Given the description of an element on the screen output the (x, y) to click on. 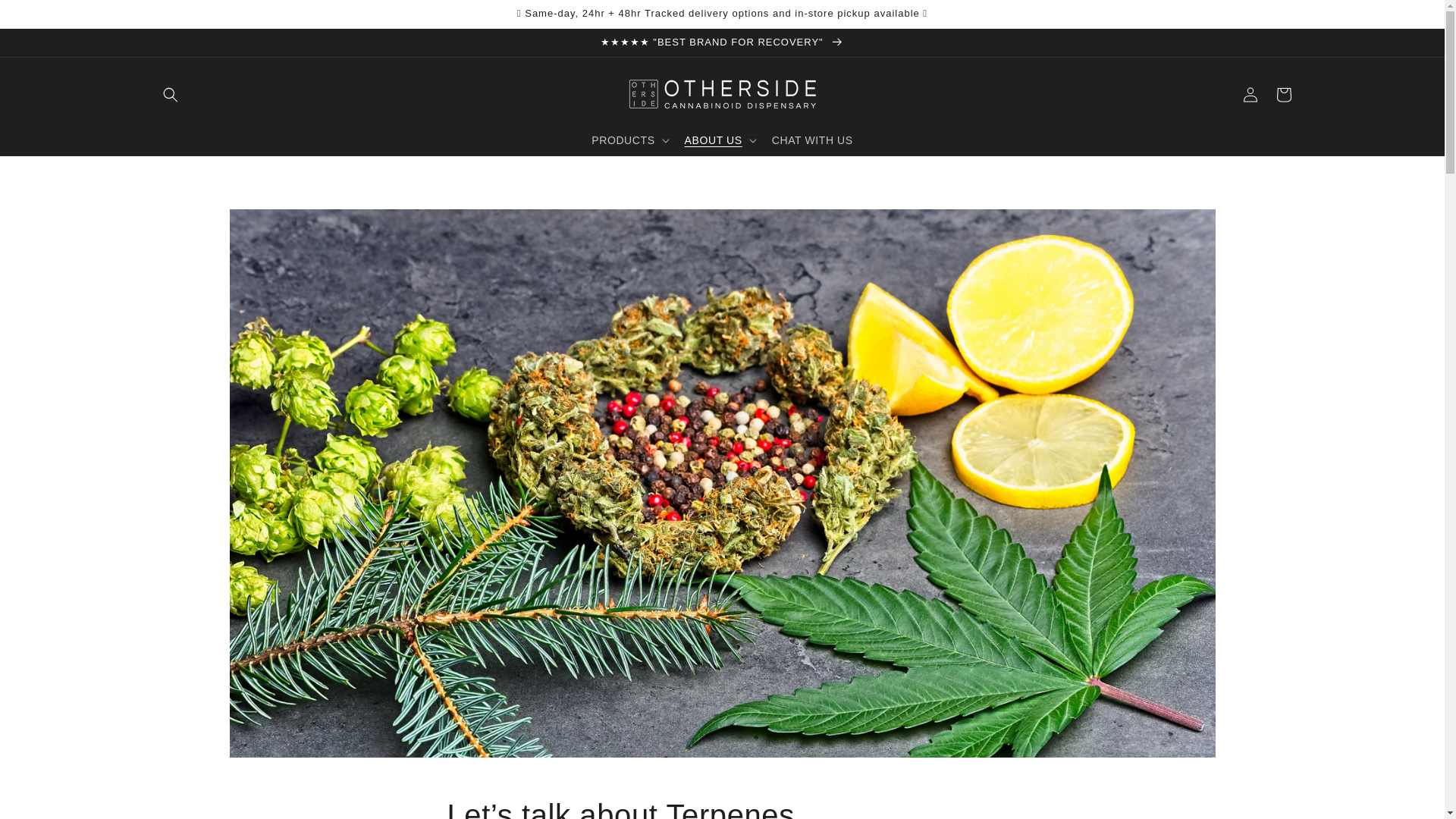
Direkt zum Inhalt (45, 16)
